Given the description of an element on the screen output the (x, y) to click on. 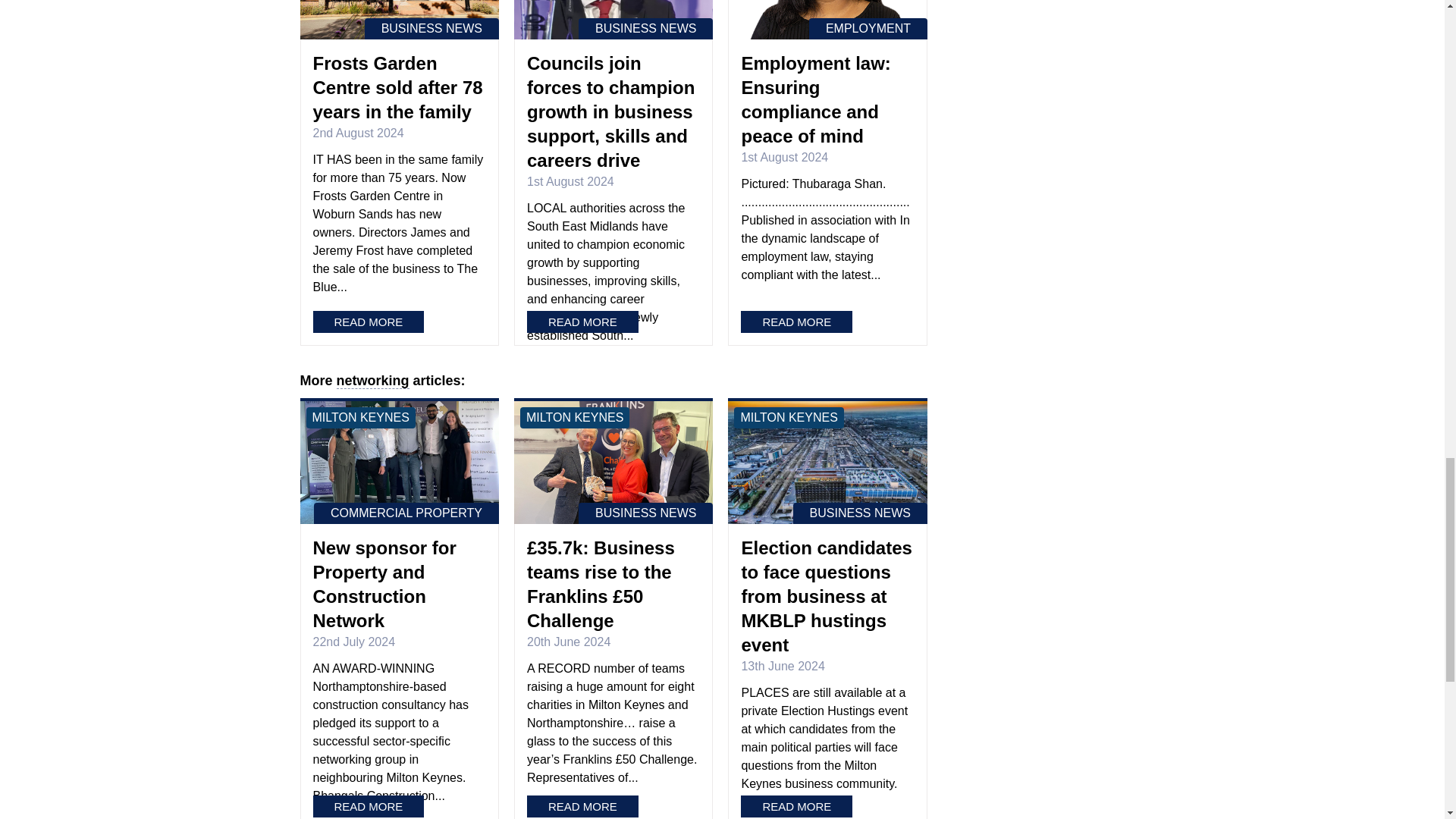
See all business news (432, 28)
